Given the description of an element on the screen output the (x, y) to click on. 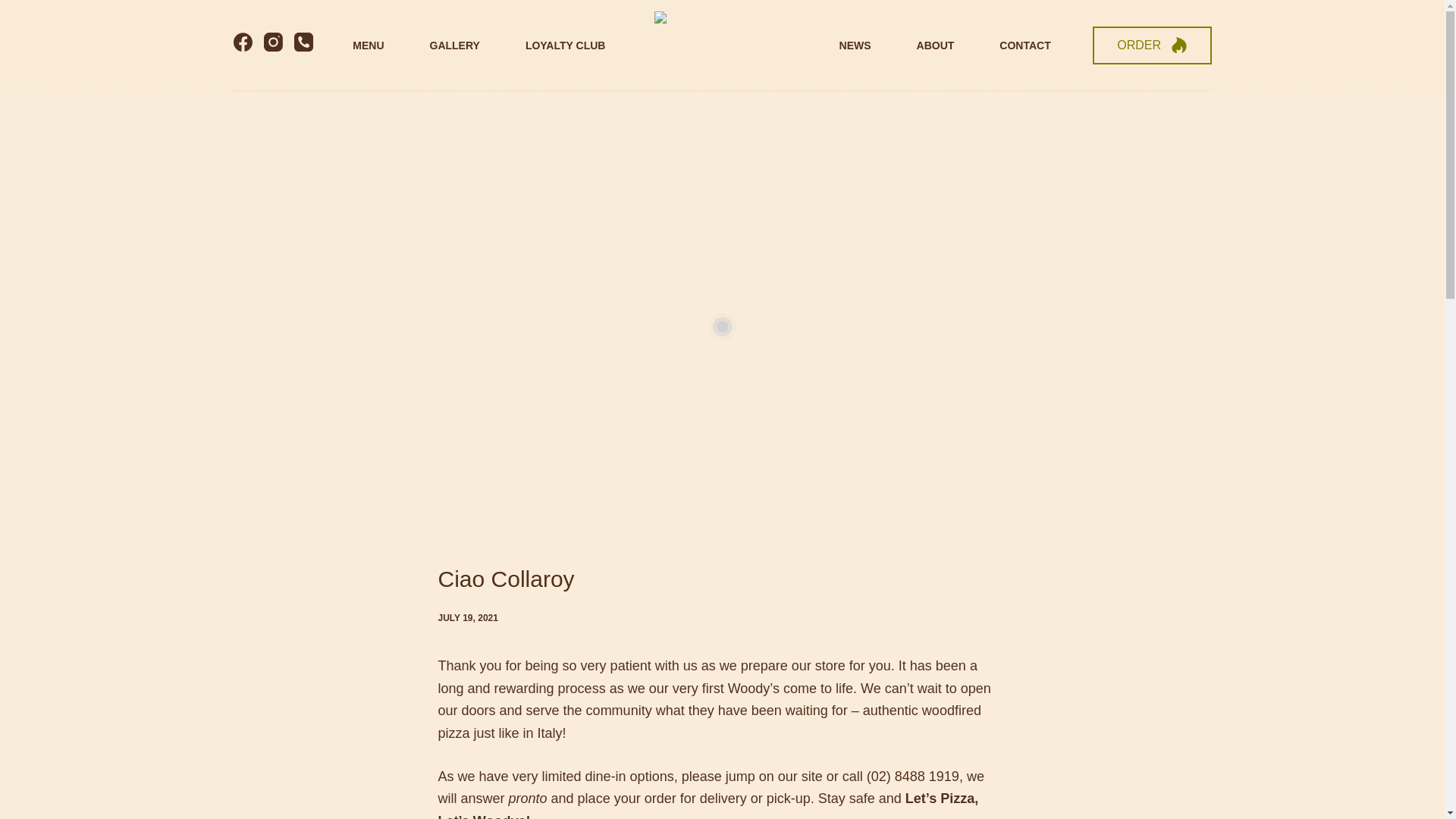
NEWS (854, 44)
Skip to content (15, 7)
ORDER  (1152, 45)
LOYALTY CLUB (565, 44)
Ciao Collaroy (722, 578)
MENU (368, 44)
CONTACT (1024, 44)
ABOUT (934, 44)
Get early access (582, 710)
GALLERY (454, 44)
